Given the description of an element on the screen output the (x, y) to click on. 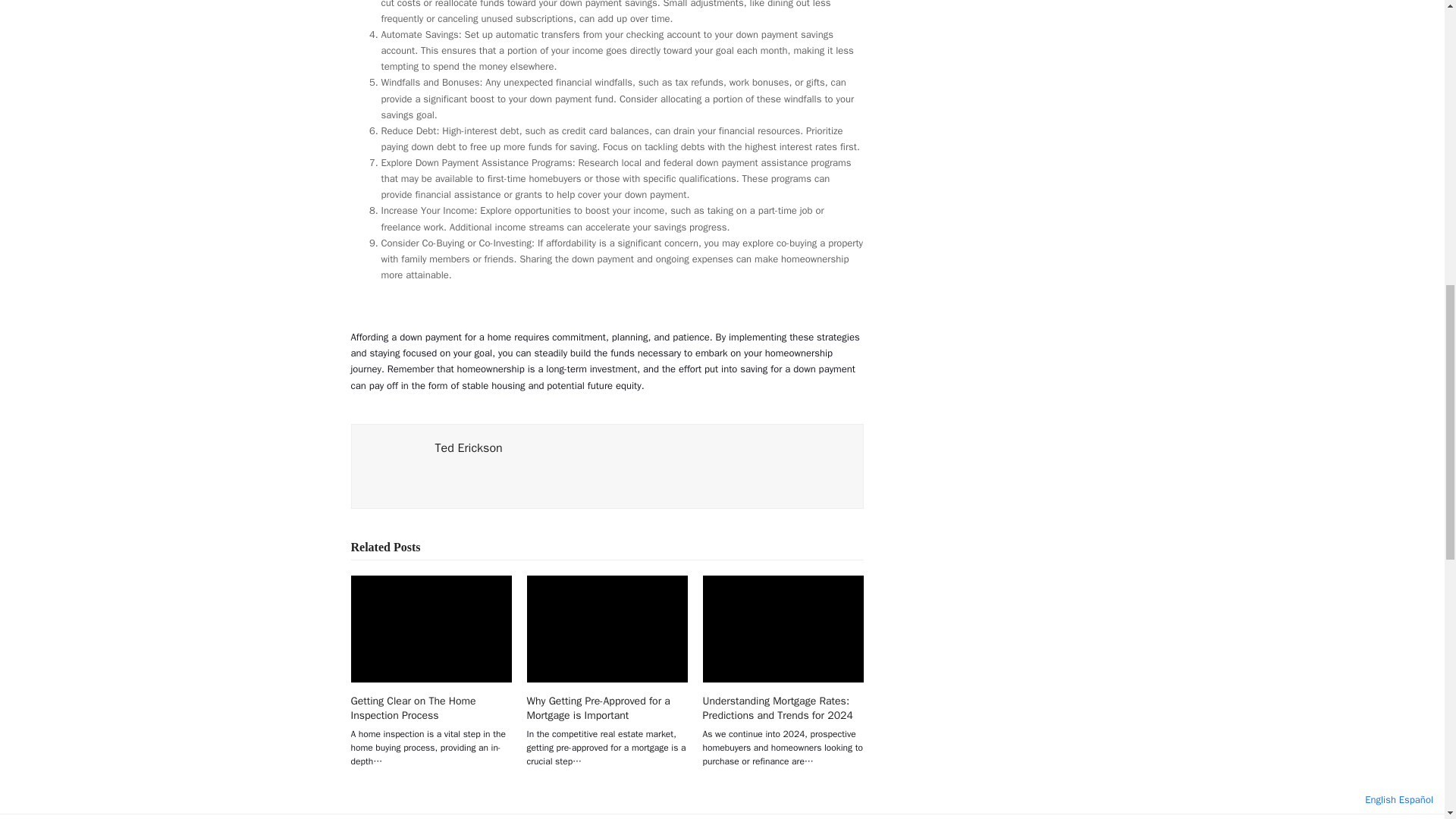
Visit Author Page (468, 447)
Why Getting Pre-Approved for a Mortgage is Important (598, 707)
Why Getting Pre-Approved for a Mortgage is Important (607, 628)
Ted Erickson (468, 447)
Visit Author Page (393, 464)
Getting Clear on The Home Inspection Process (413, 707)
Getting Clear on The Home Inspection Process (430, 628)
